Given the description of an element on the screen output the (x, y) to click on. 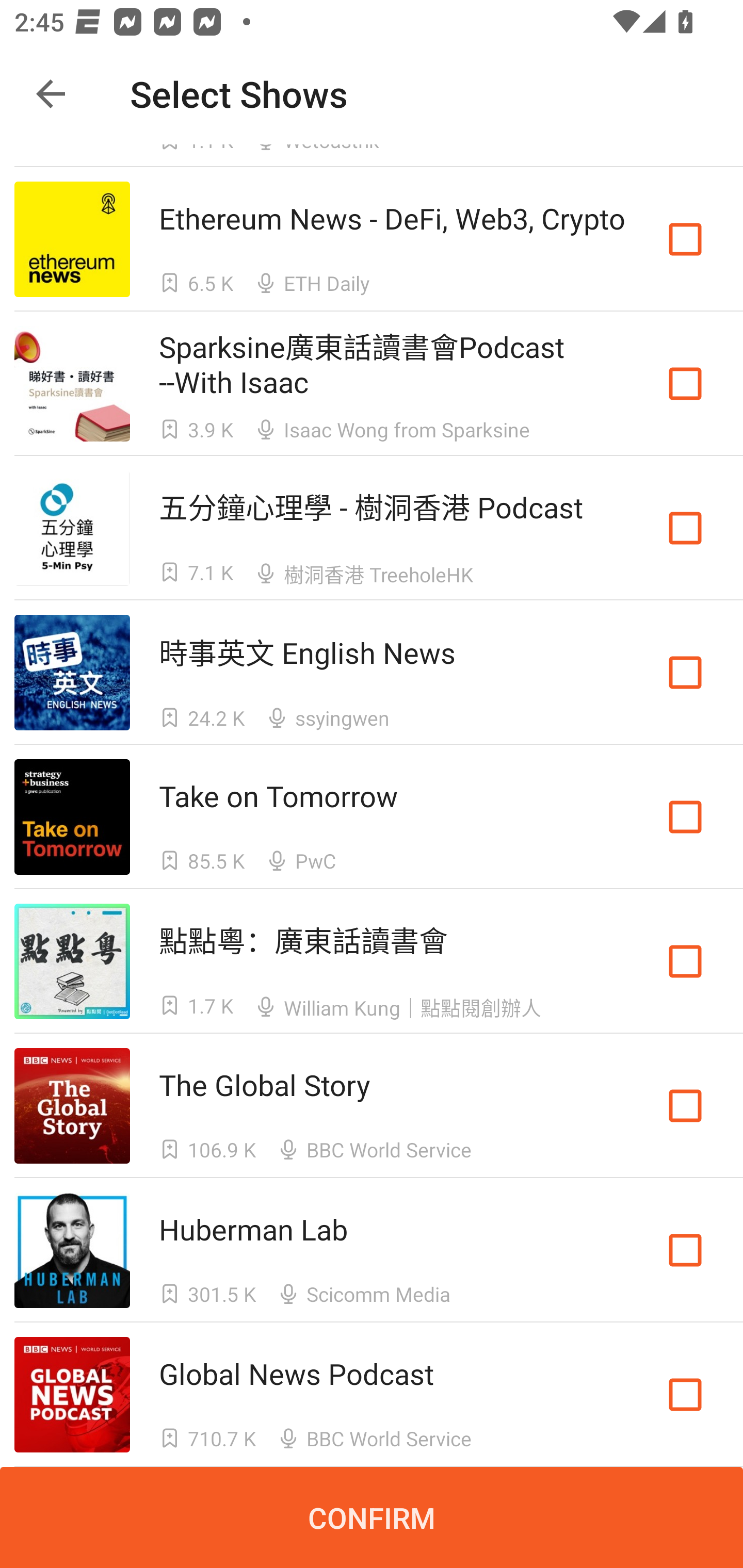
Navigate up (50, 93)
Take on Tomorrow Take on Tomorrow  85.5 K  PwC (371, 816)
CONFIRM (371, 1517)
